Given the description of an element on the screen output the (x, y) to click on. 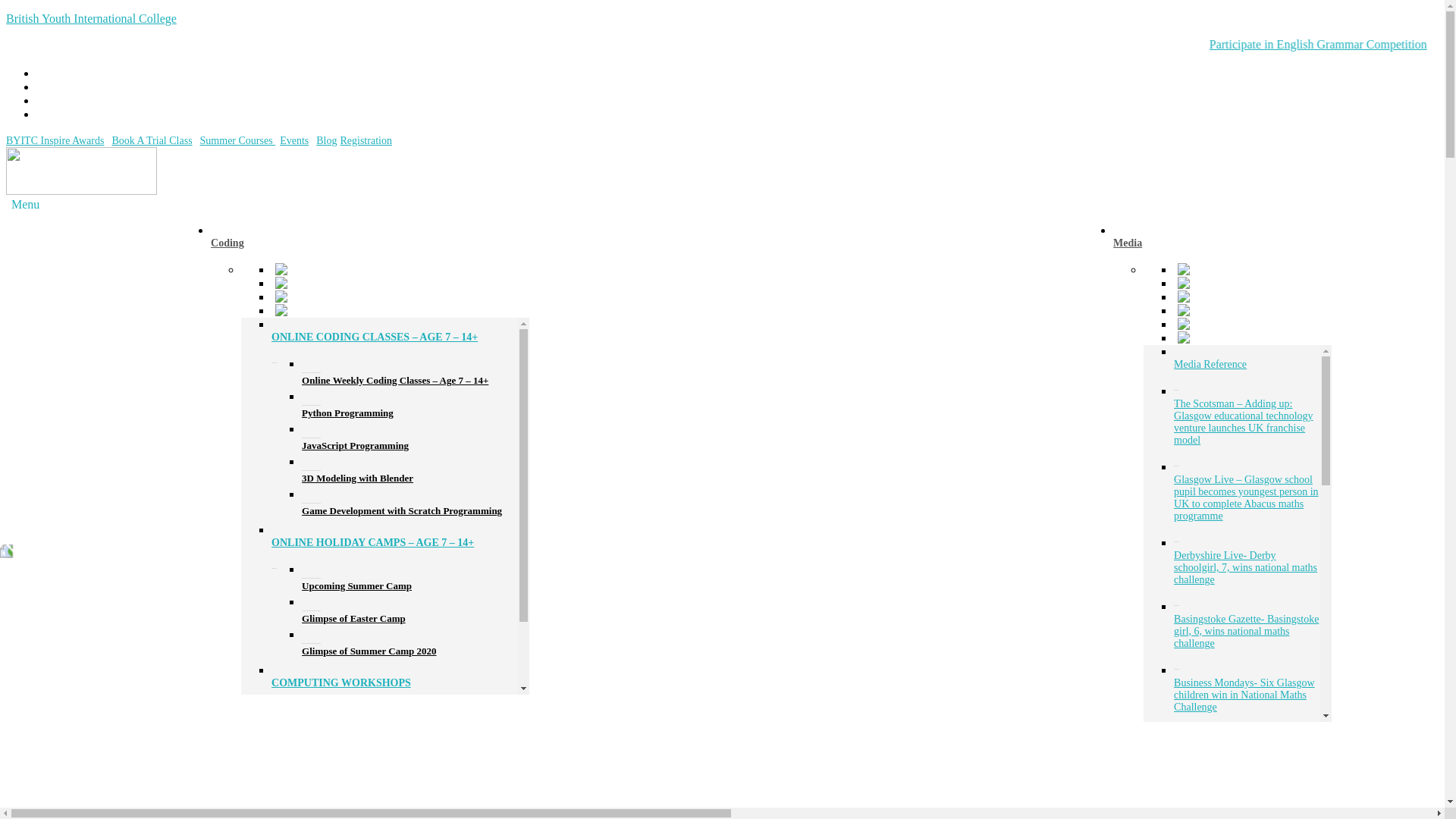
Registration (365, 140)
English (105, 242)
British Youth International College (90, 18)
BYITC Inspire Awards (54, 140)
Menu (25, 204)
Blog (325, 140)
Book A Trial Class (152, 140)
British Youth International College (90, 18)
Summer Courses (238, 140)
Events (293, 140)
Participate in English Grammar Competition (1445, 43)
